Given the description of an element on the screen output the (x, y) to click on. 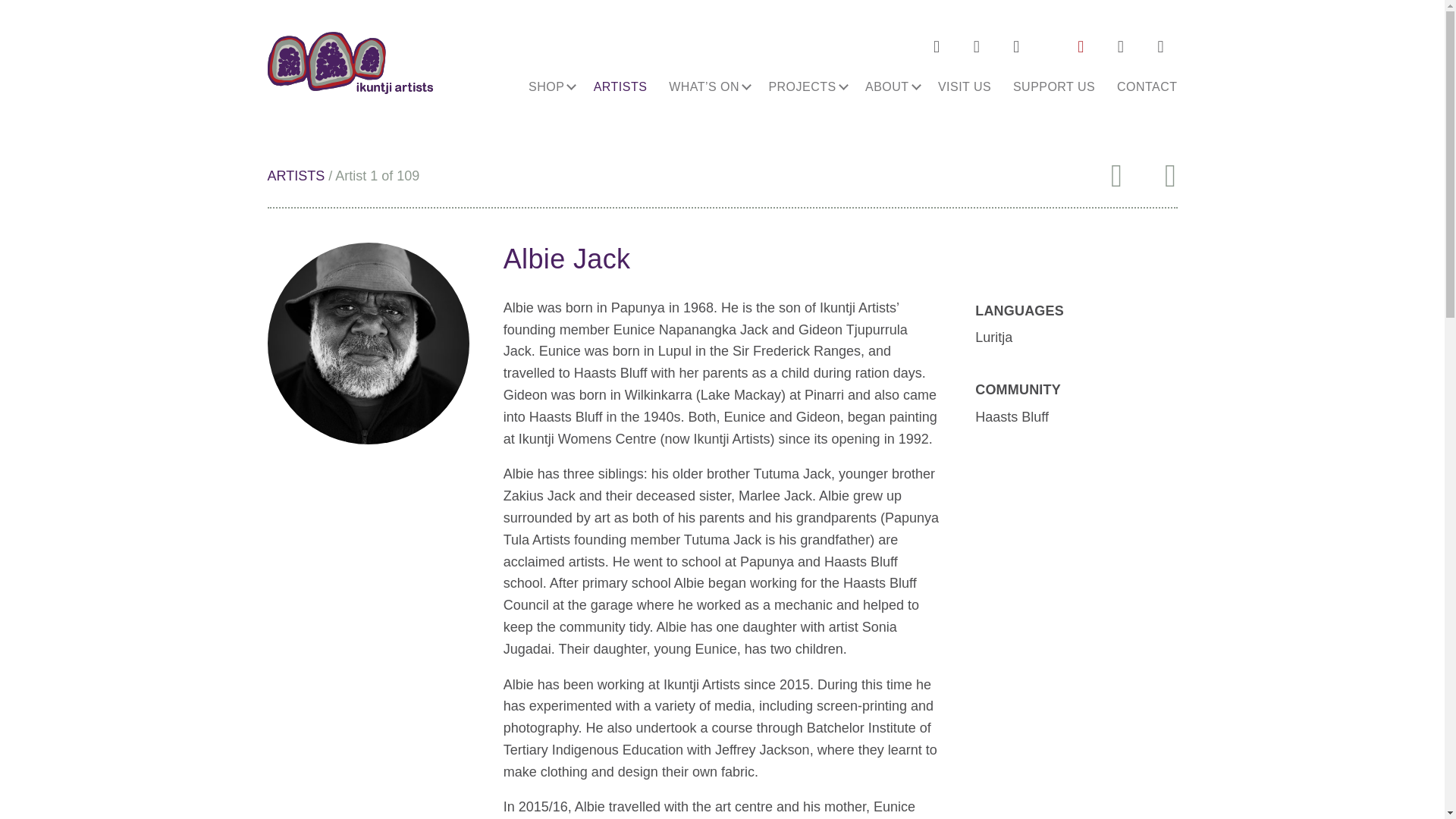
Support us (1080, 46)
SHOP (550, 86)
ABOUT (890, 86)
Go to your shopping cart (1120, 46)
ARTISTS (620, 86)
Follow us on Instagram (936, 46)
Next (1171, 176)
PROJECTS (805, 86)
Follow us on Facebook (975, 46)
Previous (1115, 176)
Follow us on TripAdvisor (1015, 46)
Ikuntji Artists (349, 62)
